Given the description of an element on the screen output the (x, y) to click on. 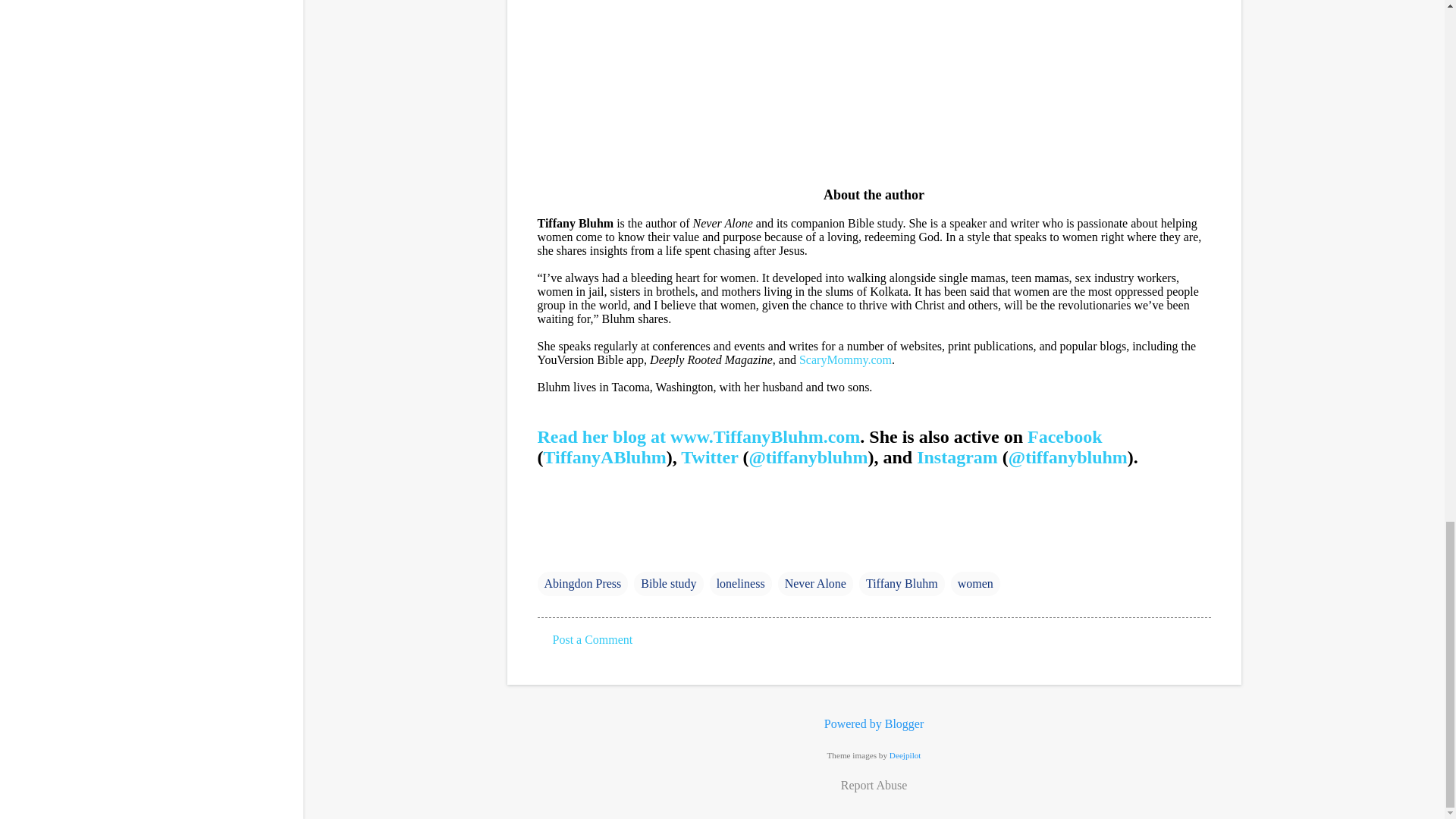
Abingdon Press (582, 583)
ScaryMommy.com (845, 359)
Post a Comment (591, 639)
Deejpilot (905, 755)
Read her blog at (603, 436)
Twitter (709, 456)
Facebook (1064, 436)
TiffanyABluhm (604, 456)
www.TiffanyBluhm.com (764, 436)
loneliness (740, 583)
